Given the description of an element on the screen output the (x, y) to click on. 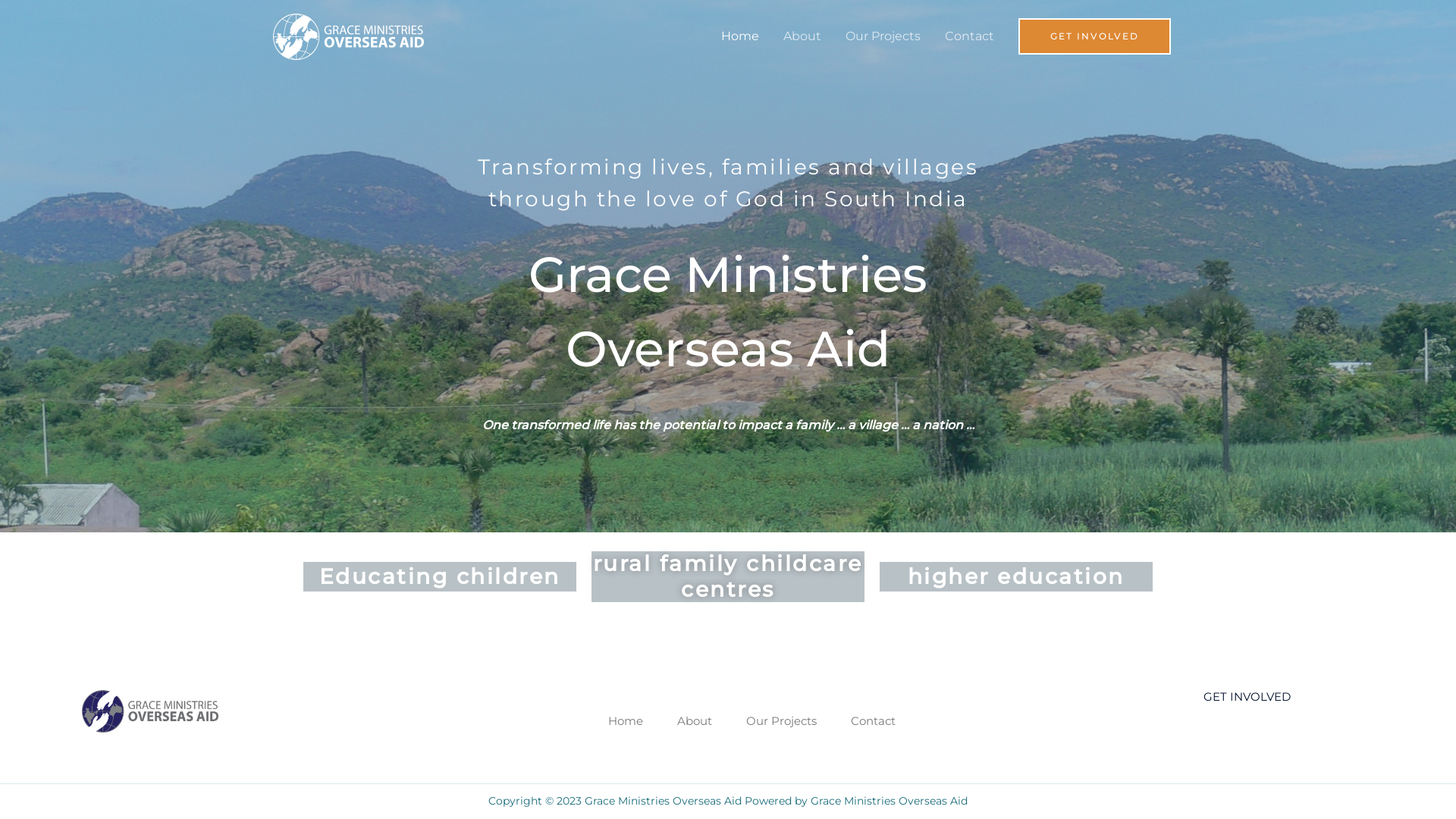
Educating children Element type: text (439, 576)
Contact Element type: text (969, 36)
Home Element type: text (625, 721)
Our Projects Element type: text (882, 36)
higher education Element type: text (1015, 576)
rural family childcare centres Element type: text (727, 576)
Home Element type: text (740, 36)
GET INVOLVED Element type: text (1246, 696)
About Element type: text (694, 721)
About Element type: text (802, 36)
Contact Element type: text (872, 721)
GET INVOLVED Element type: text (1094, 36)
Our Projects Element type: text (781, 721)
